Given the description of an element on the screen output the (x, y) to click on. 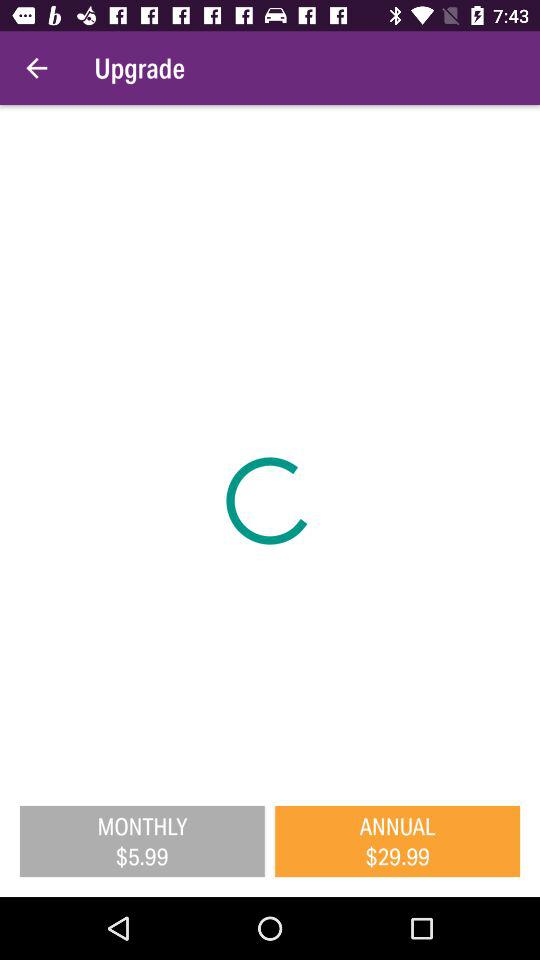
launch item to the right of the monthly
$5.99 item (397, 841)
